Given the description of an element on the screen output the (x, y) to click on. 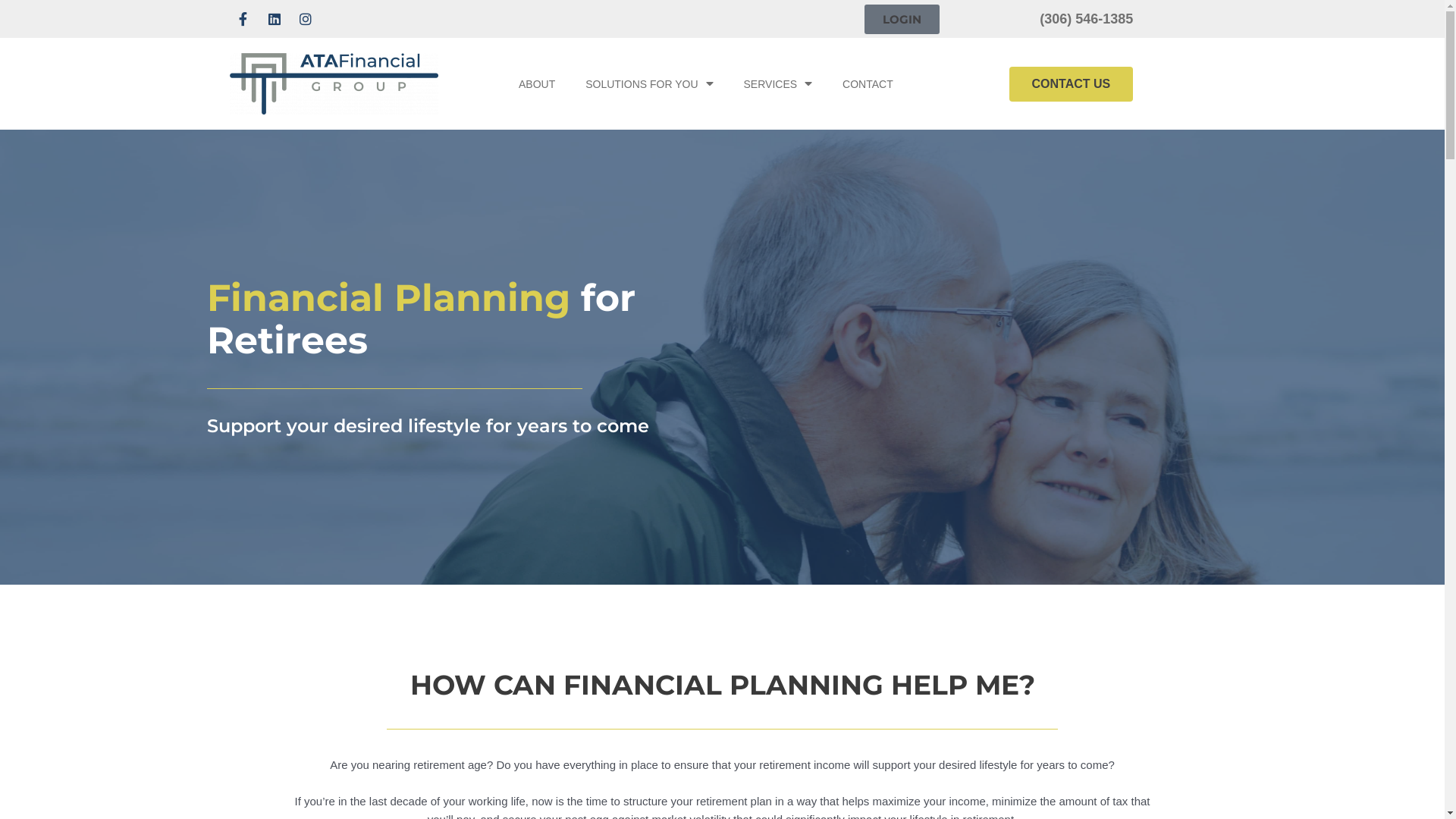
Instagram Element type: text (304, 18)
LOGIN Element type: text (901, 19)
CONTACT US Element type: text (1071, 83)
CONTACT Element type: text (867, 83)
ATA_horizontal logo_color Element type: hover (333, 83)
SERVICES Element type: text (778, 83)
Facebook-f Element type: text (242, 18)
SOLUTIONS FOR YOU Element type: text (649, 83)
ABOUT Element type: text (536, 83)
(306) 546-1385 Element type: text (1085, 18)
Linkedin Element type: text (274, 18)
